Given the description of an element on the screen output the (x, y) to click on. 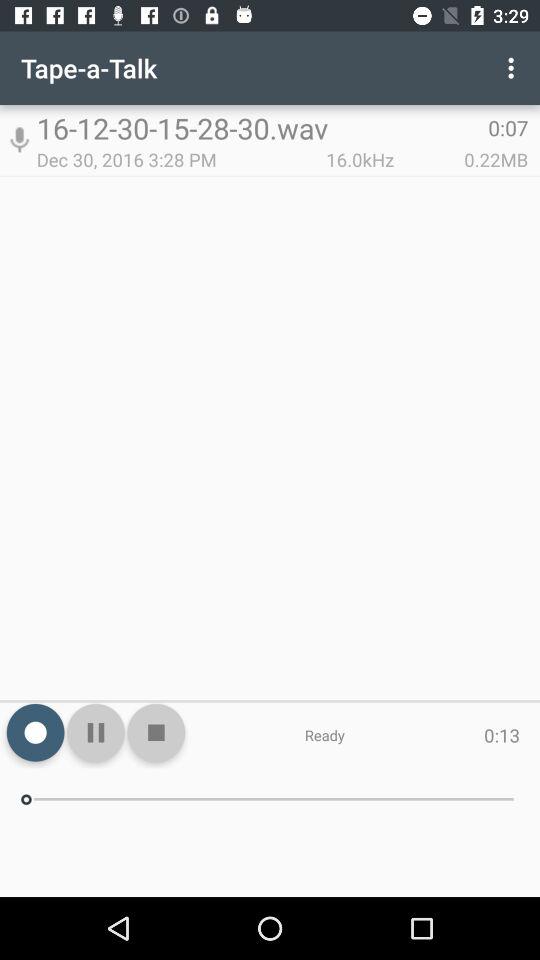
tap item to the left of 16 12 30 (19, 140)
